Given the description of an element on the screen output the (x, y) to click on. 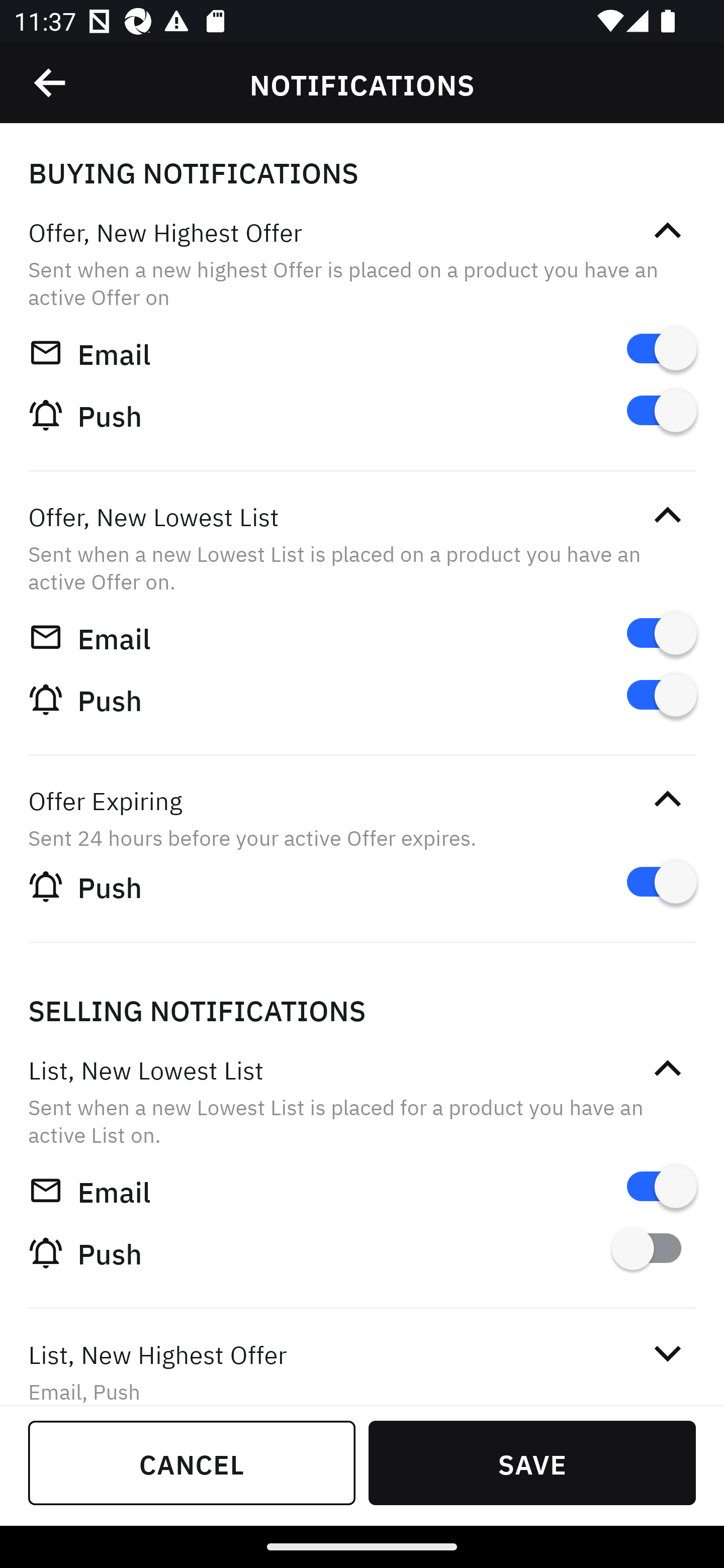
 (50, 83)
 (667, 231)
 (667, 514)
 (667, 799)
 (667, 1068)
List, New Highest Offer  Email, Push (361, 1358)
 (667, 1353)
CANCEL (191, 1462)
SAVE (531, 1462)
